Given the description of an element on the screen output the (x, y) to click on. 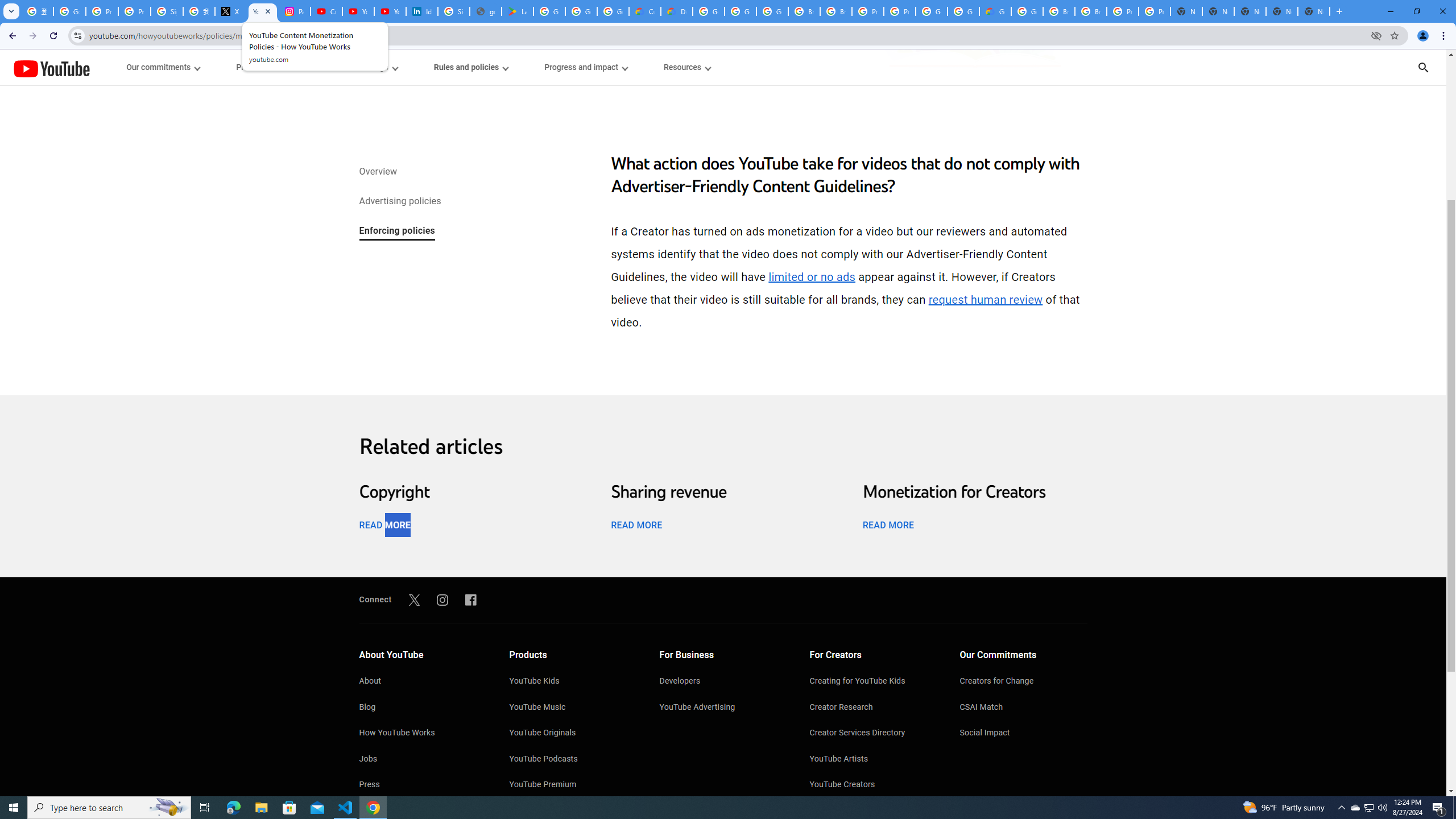
Advertising policies (399, 202)
Browse Chrome as a guest - Computer - Google Chrome Help (1059, 11)
Google Workspace - Specific Terms (581, 11)
About (422, 682)
Last Shelter: Survival - Apps on Google Play (517, 11)
CSAI Match (1023, 708)
YouTube Advertising (723, 708)
request human review (985, 300)
Browse Chrome as a guest - Computer - Google Chrome Help (1091, 11)
User settings menupopup (368, 67)
Press (422, 785)
Overview (377, 172)
